Given the description of an element on the screen output the (x, y) to click on. 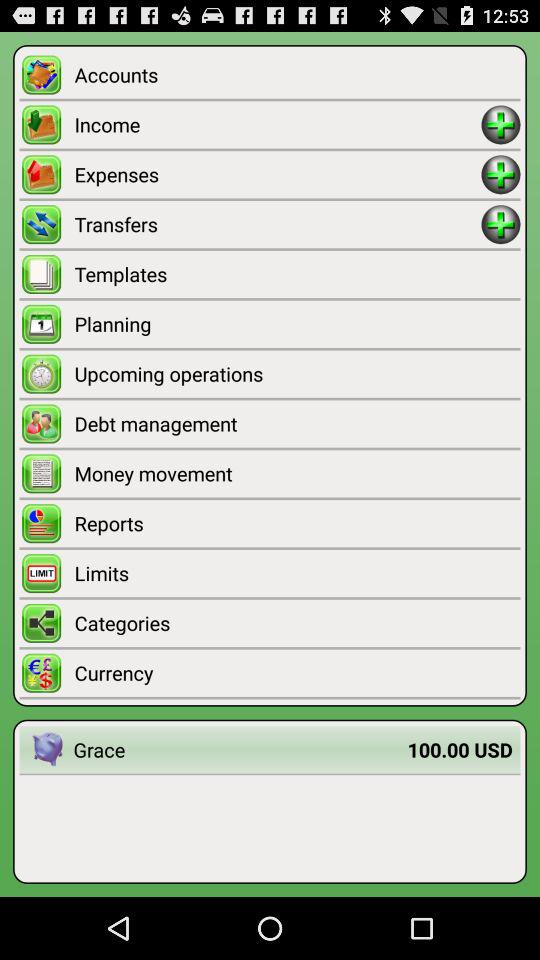
turn off the app below the money movement item (297, 523)
